Given the description of an element on the screen output the (x, y) to click on. 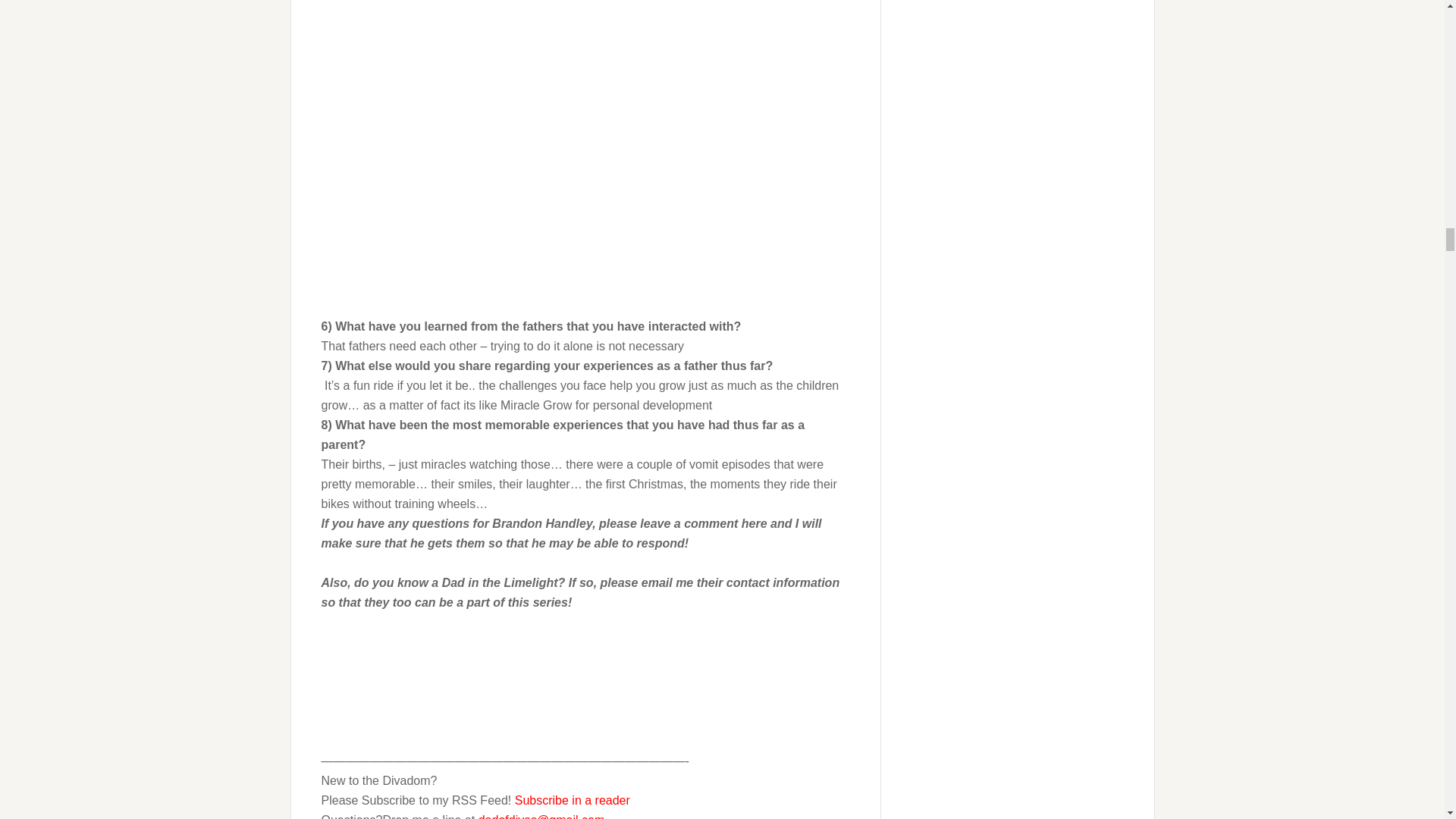
Dad of Divas, dadofdivas.com (367, 658)
